Given the description of an element on the screen output the (x, y) to click on. 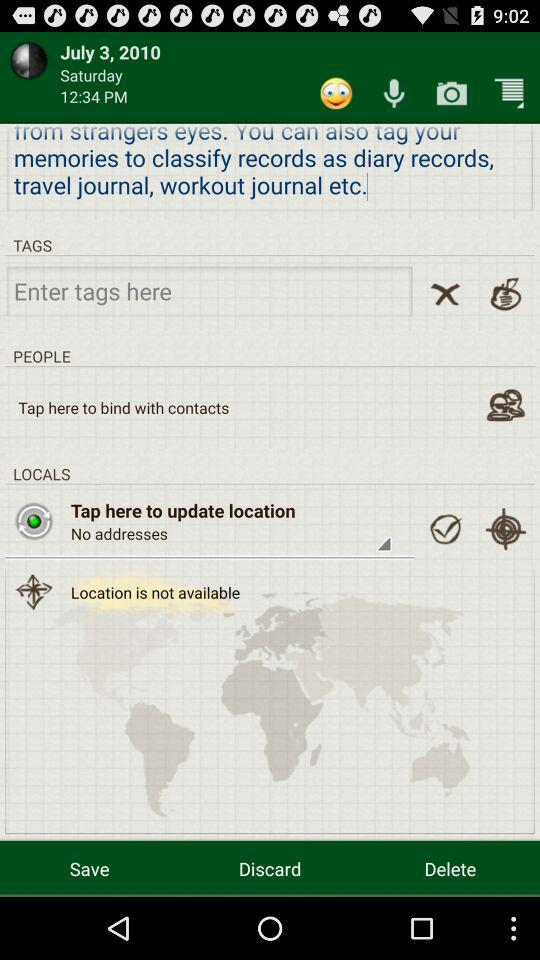
record entry (394, 92)
